Given the description of an element on the screen output the (x, y) to click on. 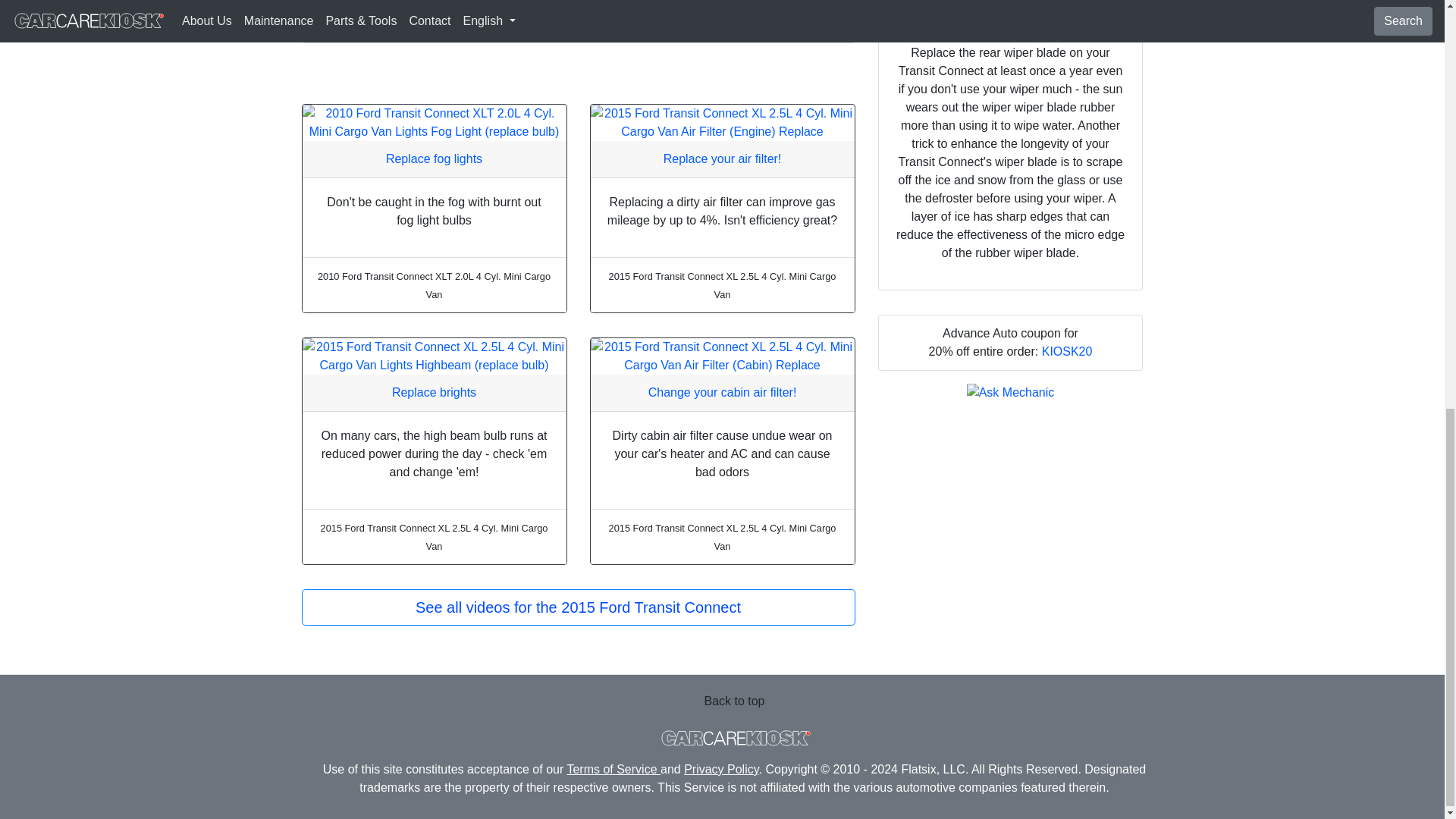
Replace brights (433, 391)
See all videos for the 2015 Ford Transit Connect (578, 606)
Replace fog lights (433, 158)
Back to top (734, 701)
KIOSK20 (1067, 350)
Change your cabin air filter! (721, 391)
Replace your air filter! (722, 158)
